Given the description of an element on the screen output the (x, y) to click on. 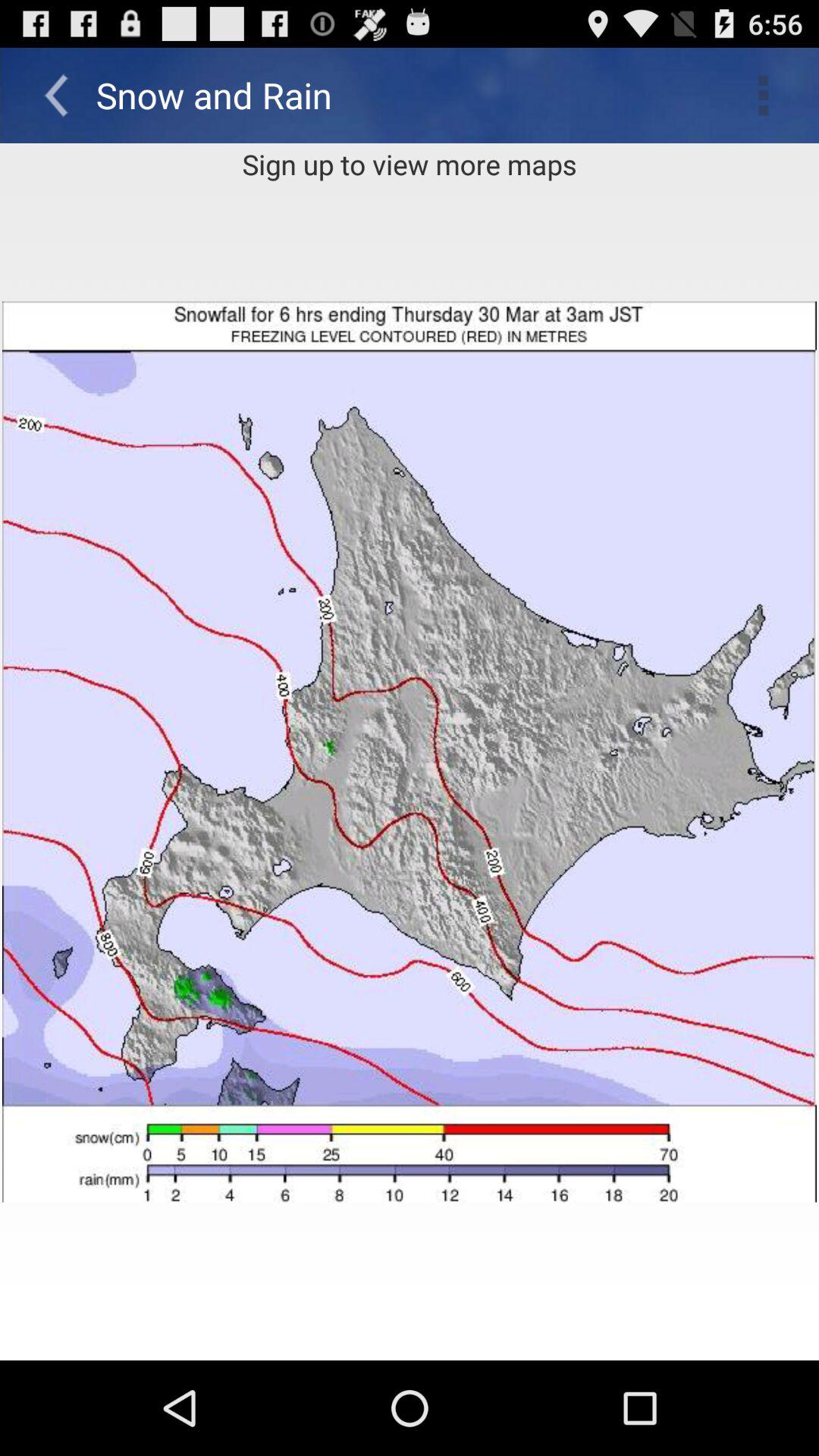
click main page (409, 751)
